Given the description of an element on the screen output the (x, y) to click on. 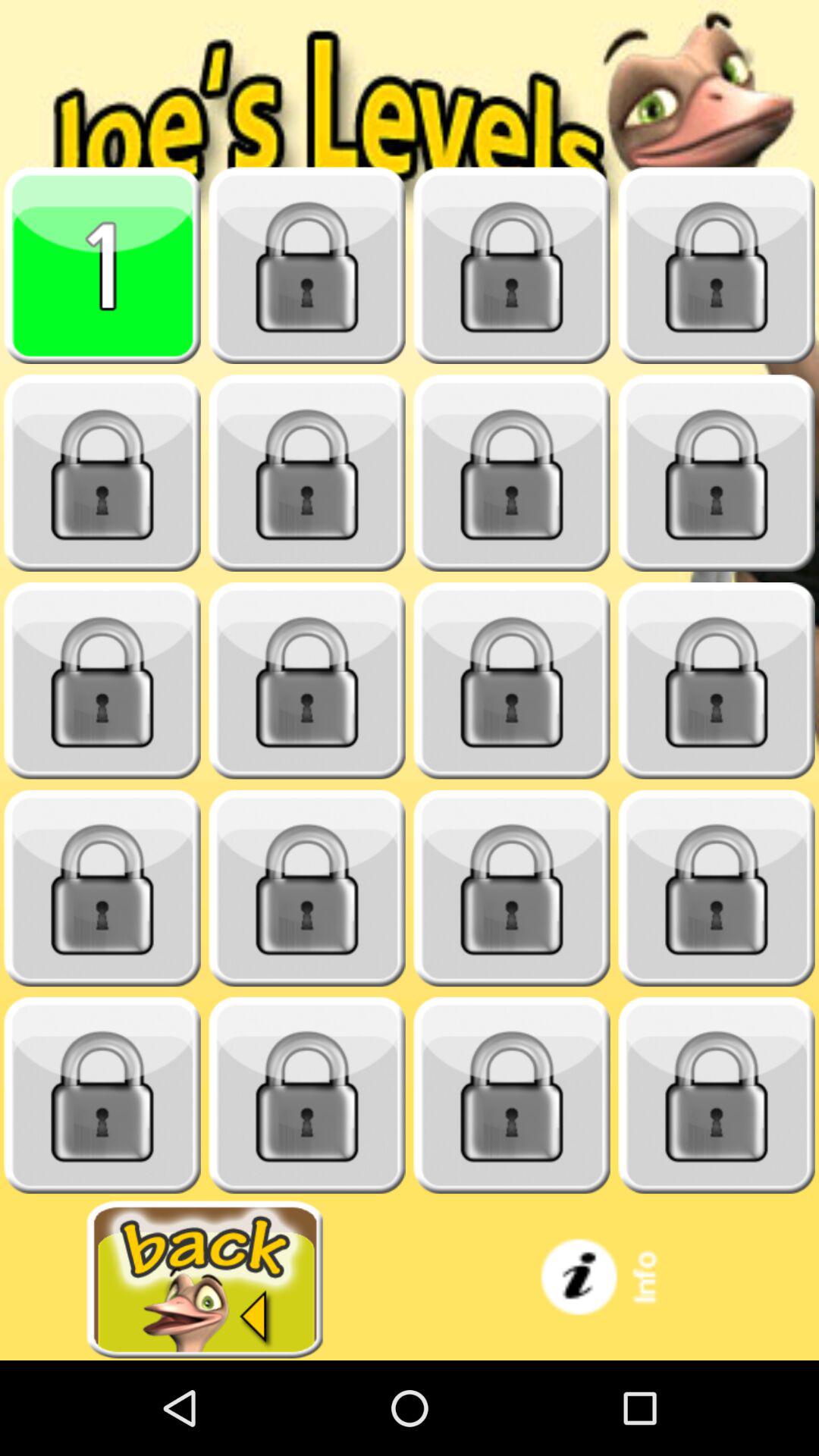
click locked level third row (102, 680)
